Given the description of an element on the screen output the (x, y) to click on. 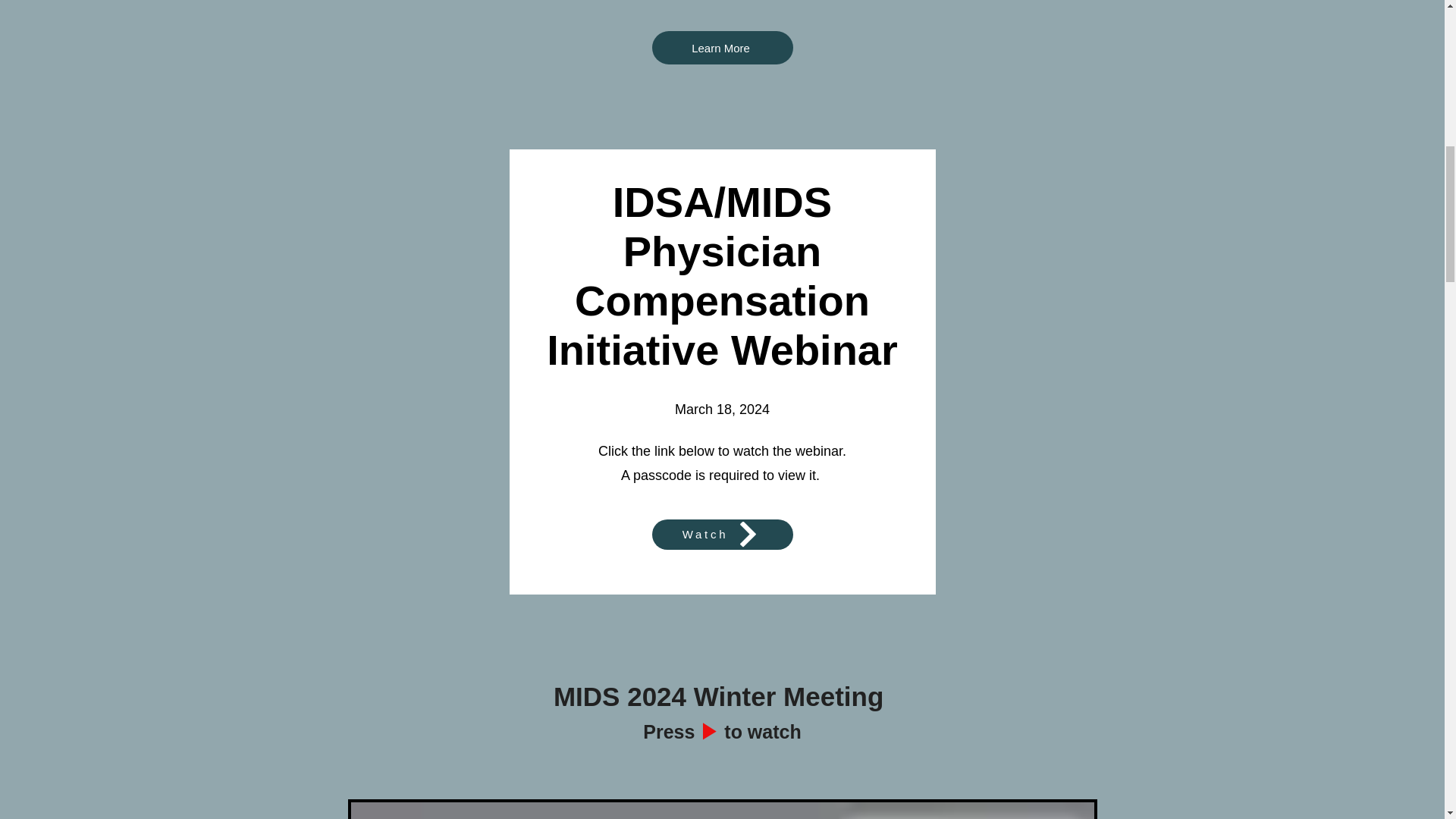
Learn More (722, 47)
Watch (722, 534)
